Given the description of an element on the screen output the (x, y) to click on. 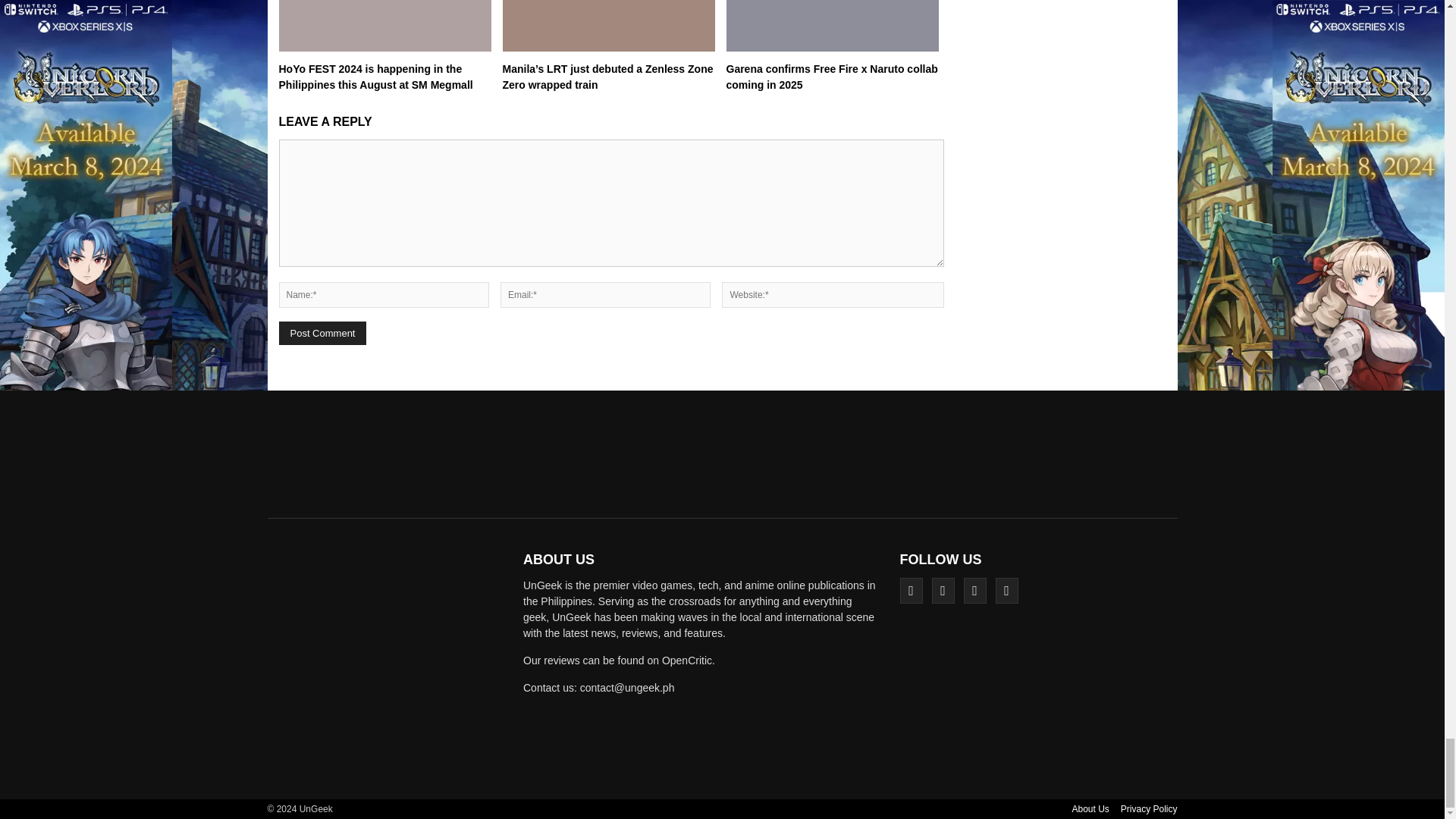
UnGeek (389, 663)
Post Comment (322, 332)
